Given the description of an element on the screen output the (x, y) to click on. 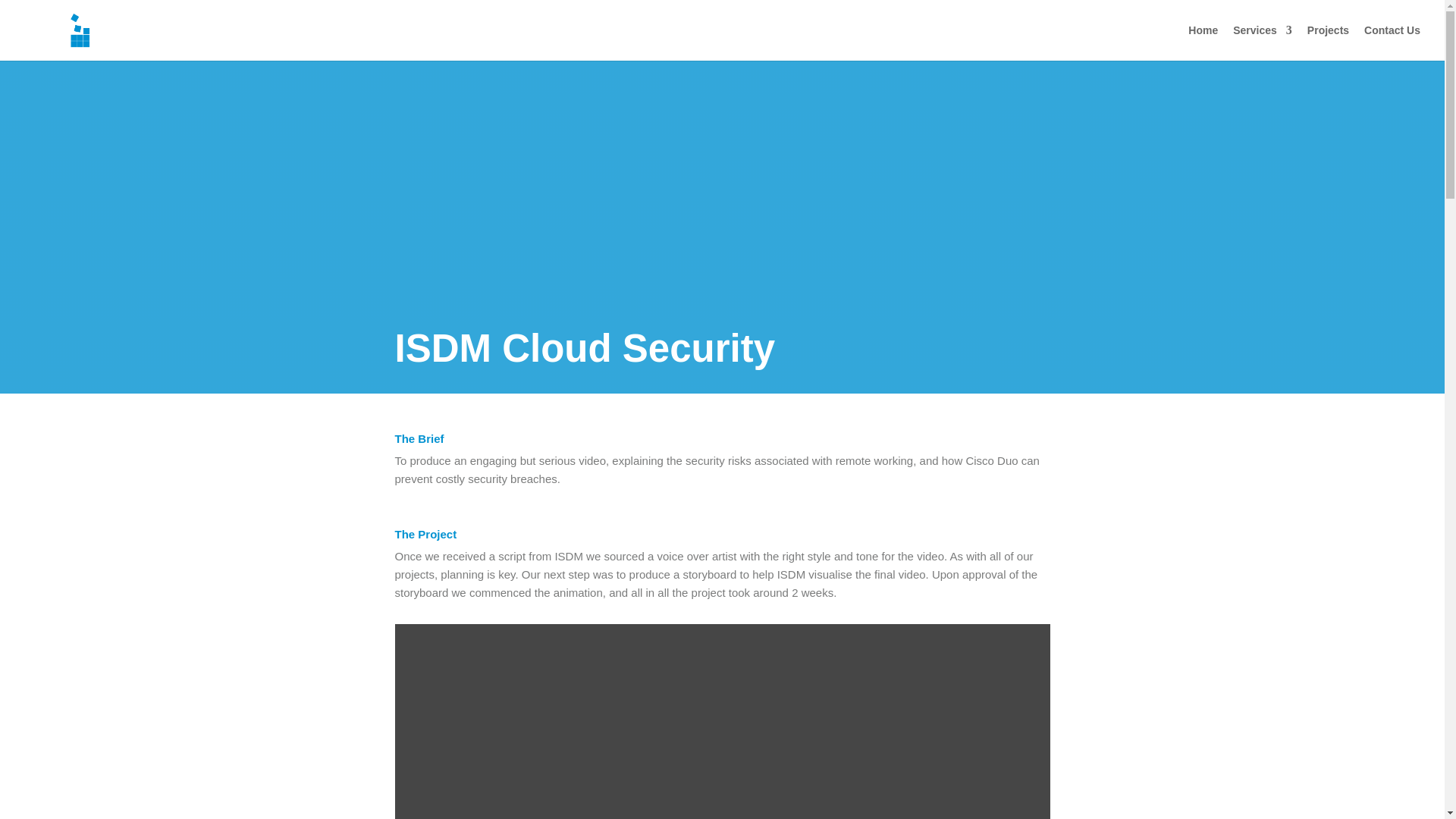
Projects (1328, 42)
Services (1262, 42)
Contact Us (1392, 42)
